Given the description of an element on the screen output the (x, y) to click on. 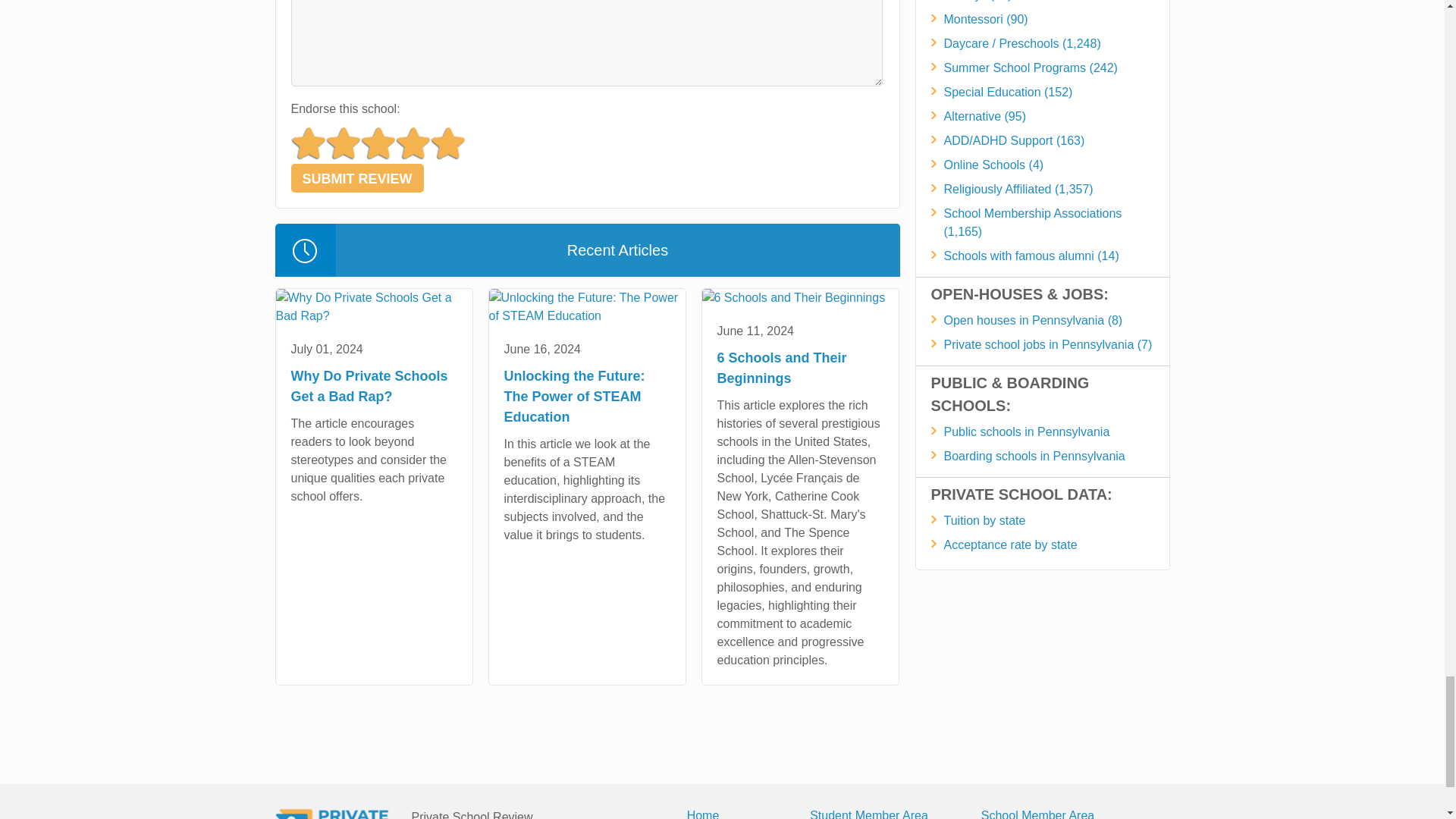
6 Schools and Their Beginnings (793, 298)
SUBMIT REVIEW (357, 177)
6 Schools and Their Beginnings (799, 298)
Unlocking the Future: The Power of STEAM Education (585, 307)
Why Do Private Schools Get a Bad Rap? (373, 307)
